Given the description of an element on the screen output the (x, y) to click on. 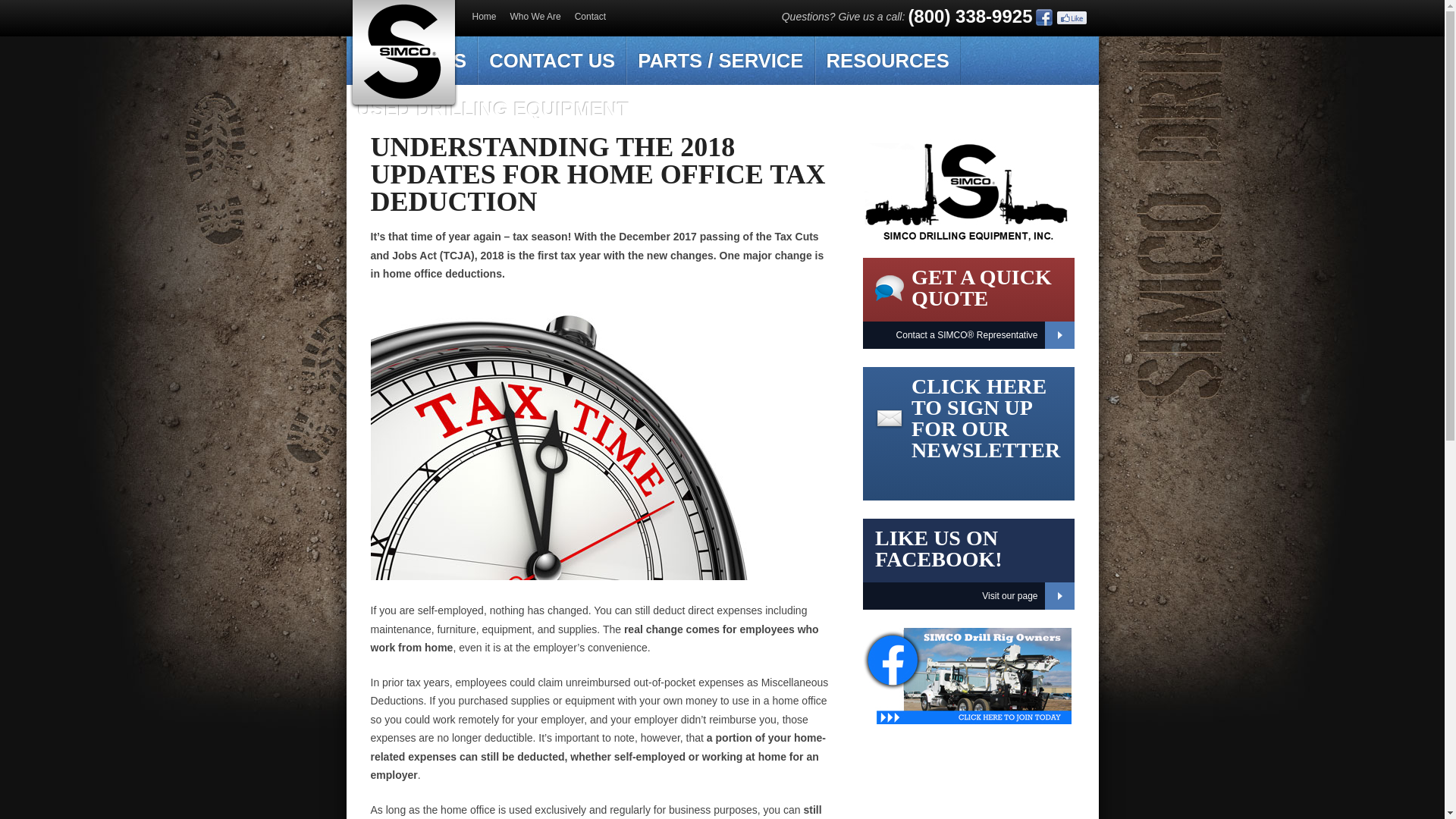
USED DRILLING EQUIPMENT (492, 109)
Visit our page (968, 595)
GET A QUICK QUOTE (981, 287)
Who We Are (535, 17)
CLICK HERE TO SIGN UP FOR OUR NEWSLETTER (985, 417)
DRILL RIGS (411, 60)
Home (483, 17)
CONTACT US (551, 60)
Contact (590, 17)
RESOURCES (886, 60)
LIKE US ON FACEBOOK! (938, 548)
